Given the description of an element on the screen output the (x, y) to click on. 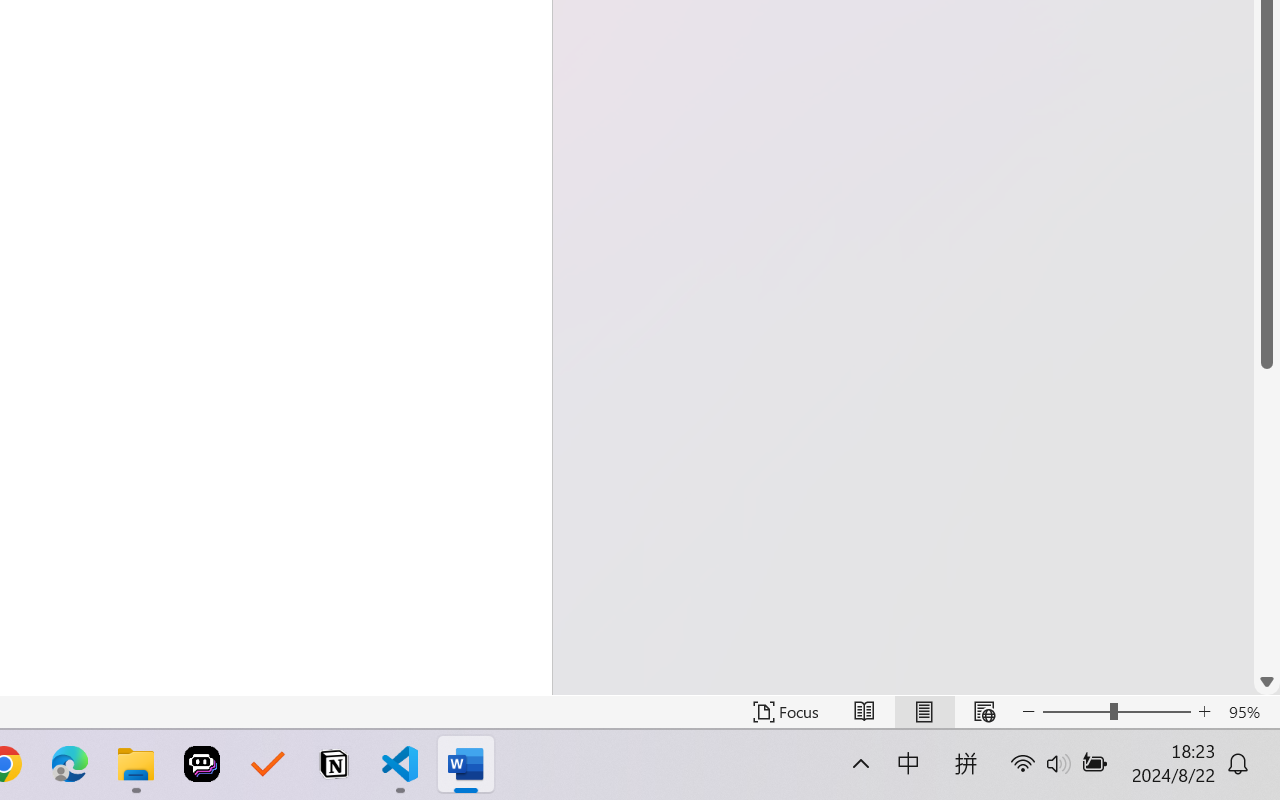
Page down (1267, 518)
Zoom 95% (1249, 712)
Line down (1267, 681)
